Given the description of an element on the screen output the (x, y) to click on. 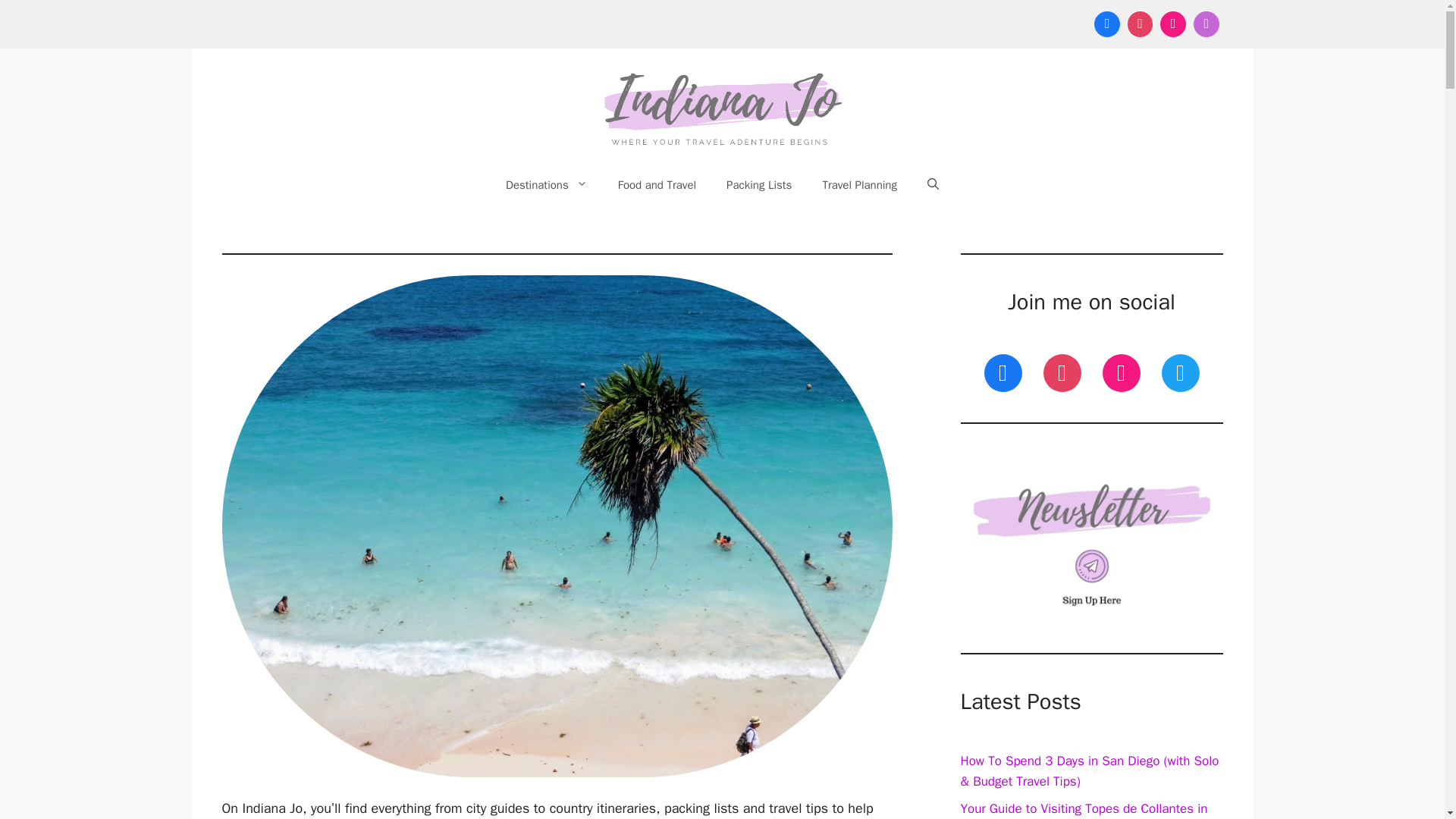
Pinterest (1062, 371)
Instagram (1121, 371)
Facebook (1107, 23)
Telegram (1206, 23)
Instagram (1172, 23)
Pinterest (1140, 23)
Twitter (1180, 371)
Facebook (1003, 371)
Destinations (546, 185)
